Given the description of an element on the screen output the (x, y) to click on. 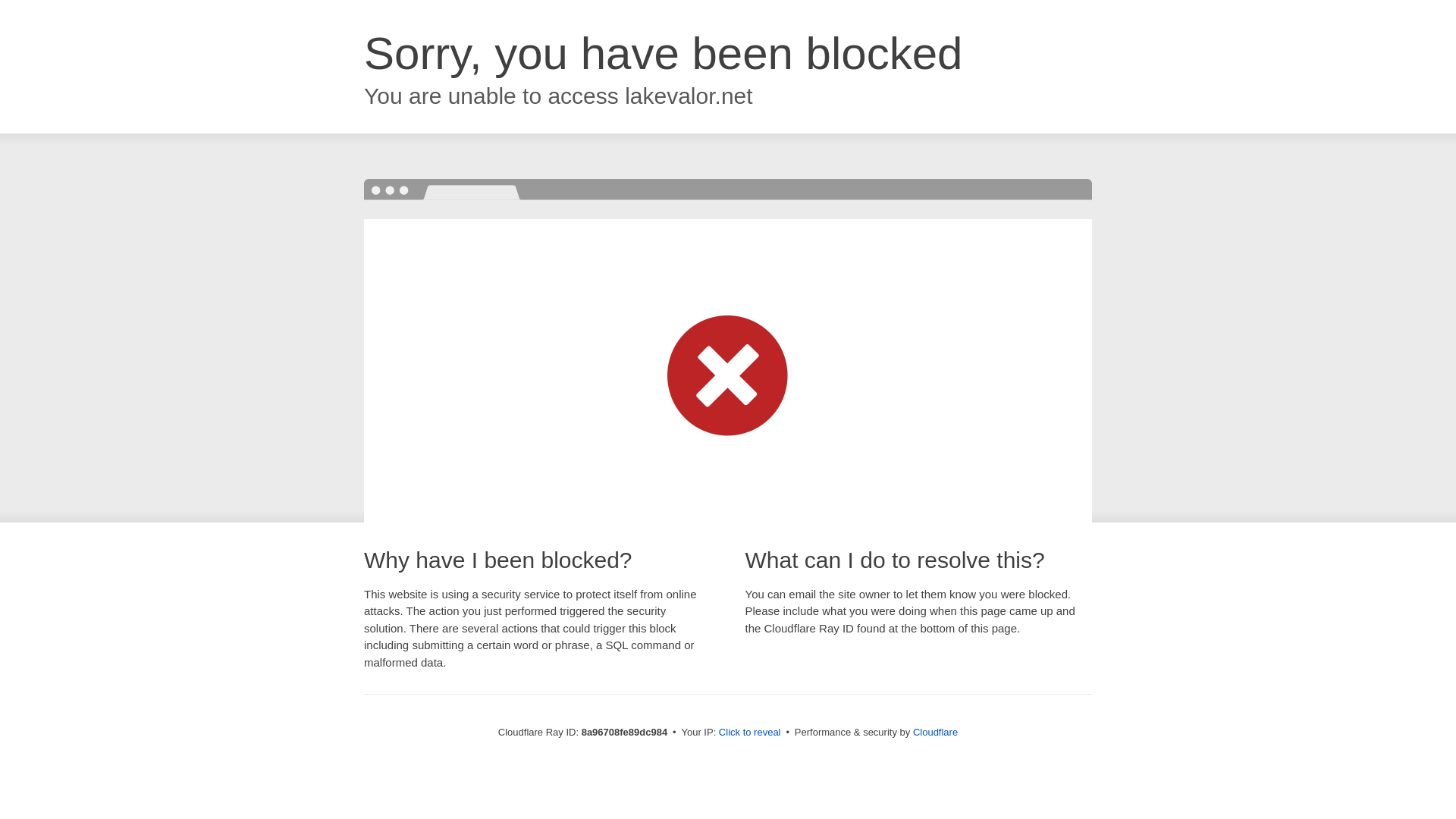
Cloudflare (935, 731)
Click to reveal (749, 732)
